Given the description of an element on the screen output the (x, y) to click on. 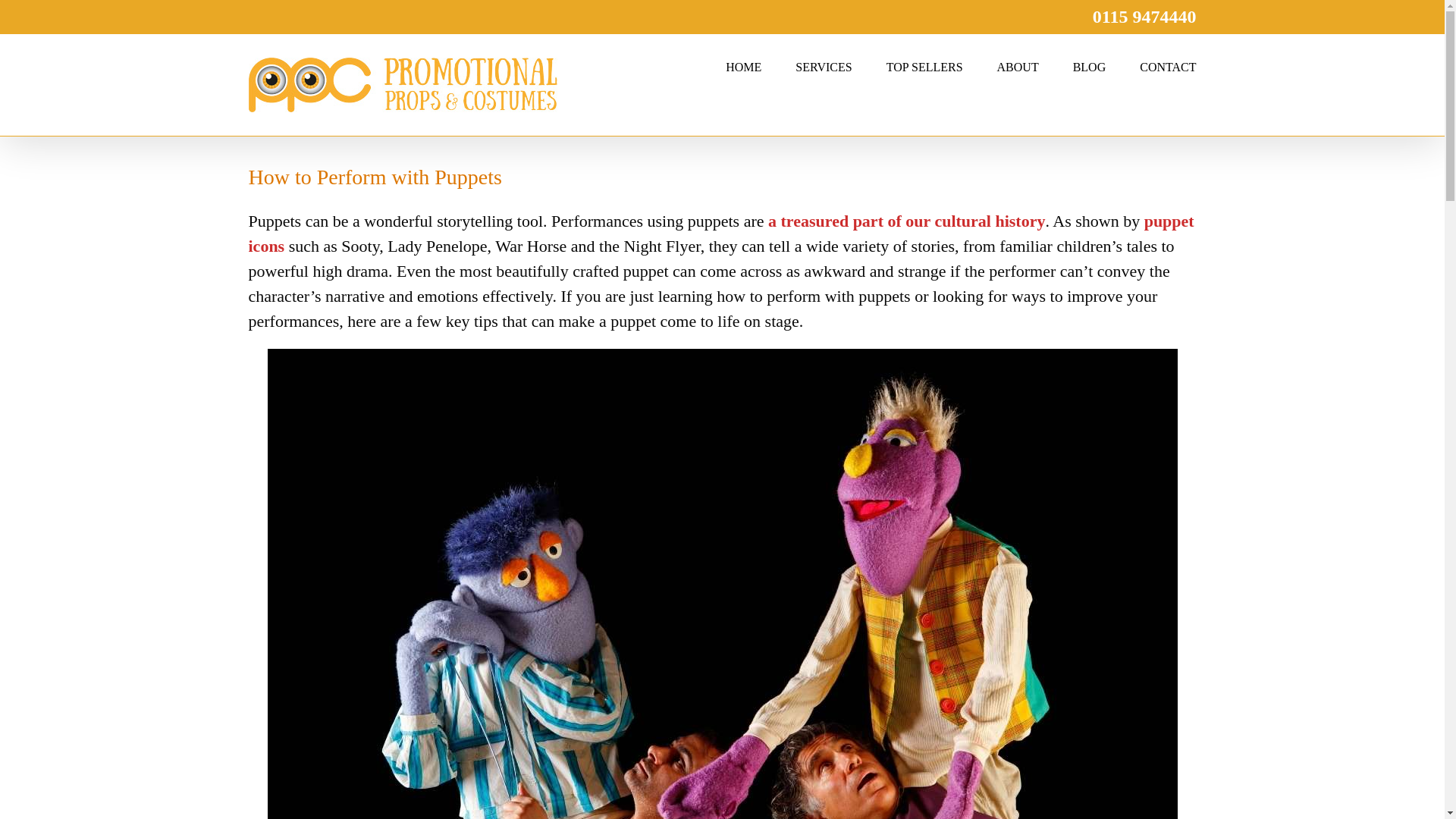
a treasured part of our cultural history (906, 220)
puppet icons (720, 233)
TOP SELLERS (924, 65)
